Given the description of an element on the screen output the (x, y) to click on. 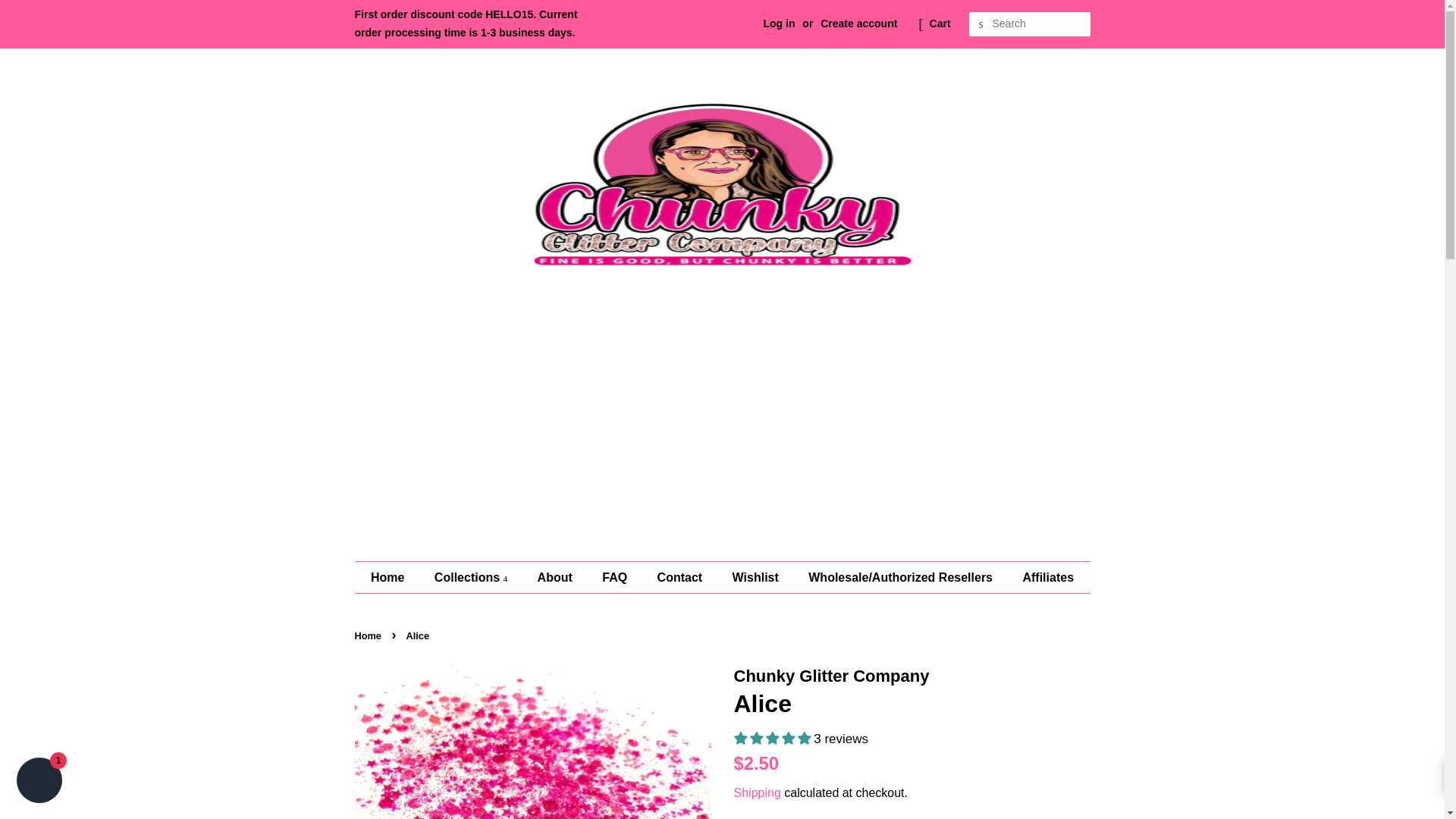
Cart (940, 24)
Create account (858, 23)
Home (395, 576)
Back to the frontpage (370, 635)
Log in (778, 23)
Collections (472, 576)
Search (980, 24)
Shopify online store chat (38, 781)
